Given the description of an element on the screen output the (x, y) to click on. 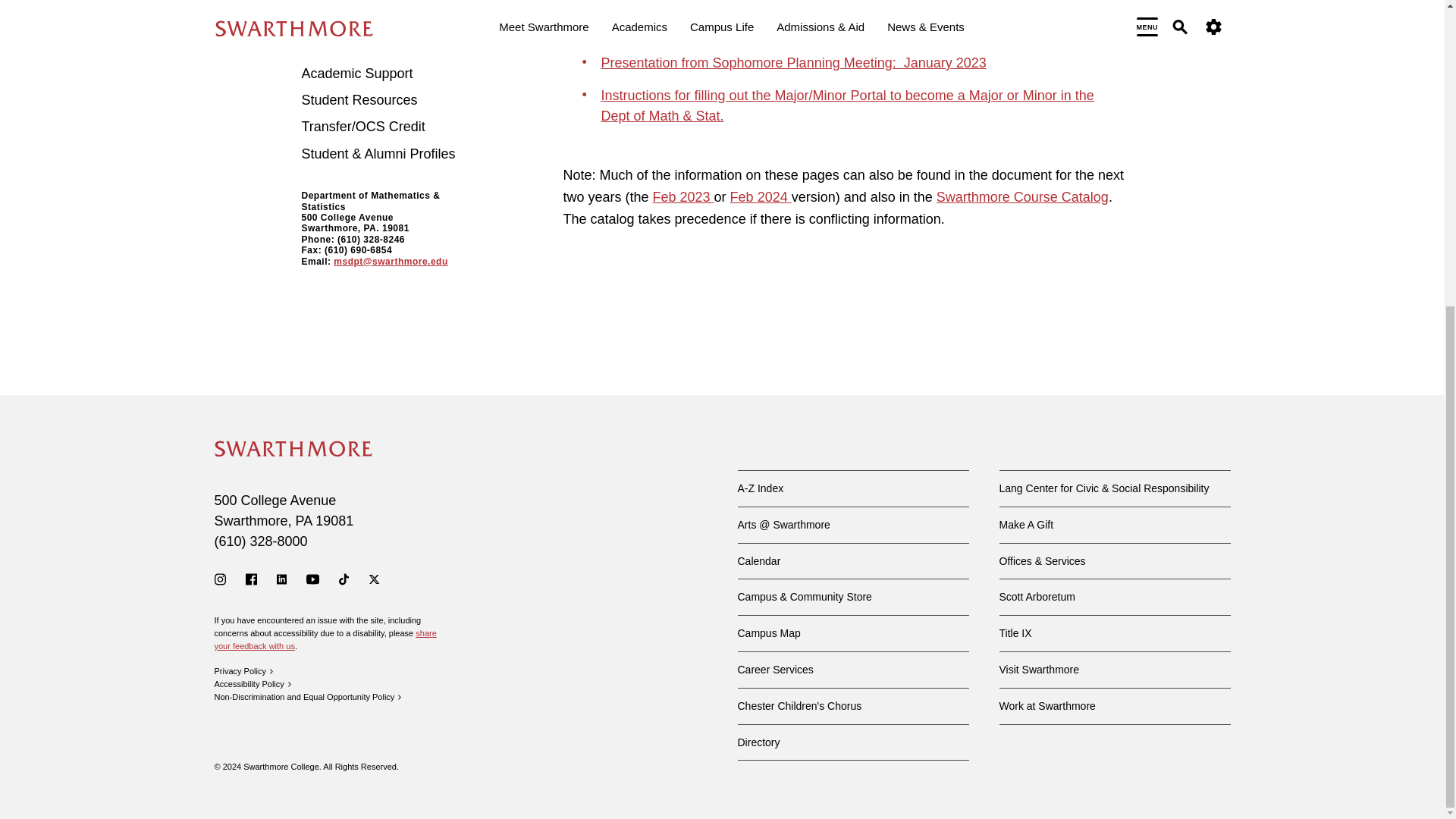
Facebook (251, 579)
Instagram (219, 579)
Swarthmore College - Home (292, 448)
YouTube (311, 579)
